Given the description of an element on the screen output the (x, y) to click on. 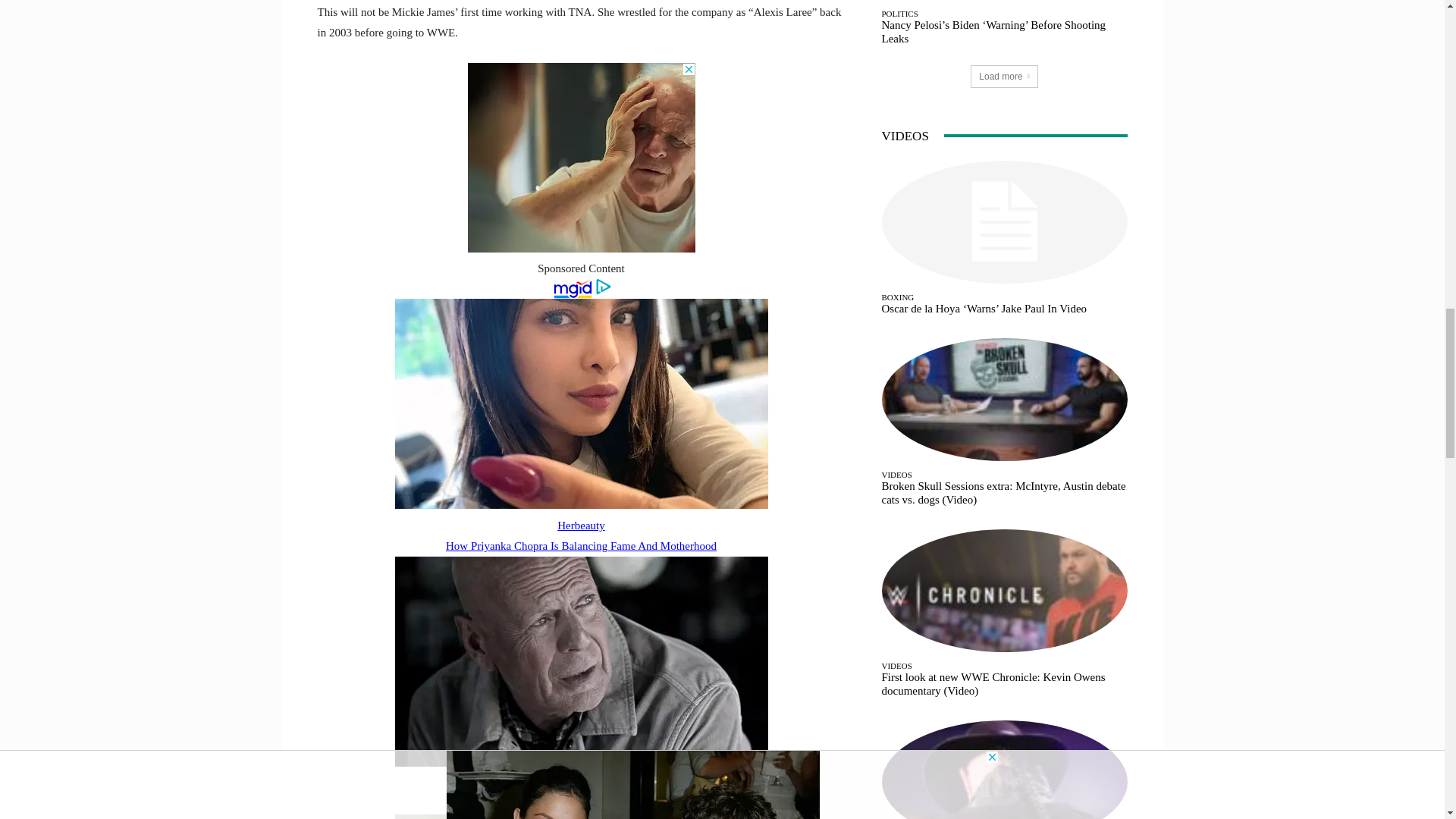
3rd party ad content (580, 157)
